Given the description of an element on the screen output the (x, y) to click on. 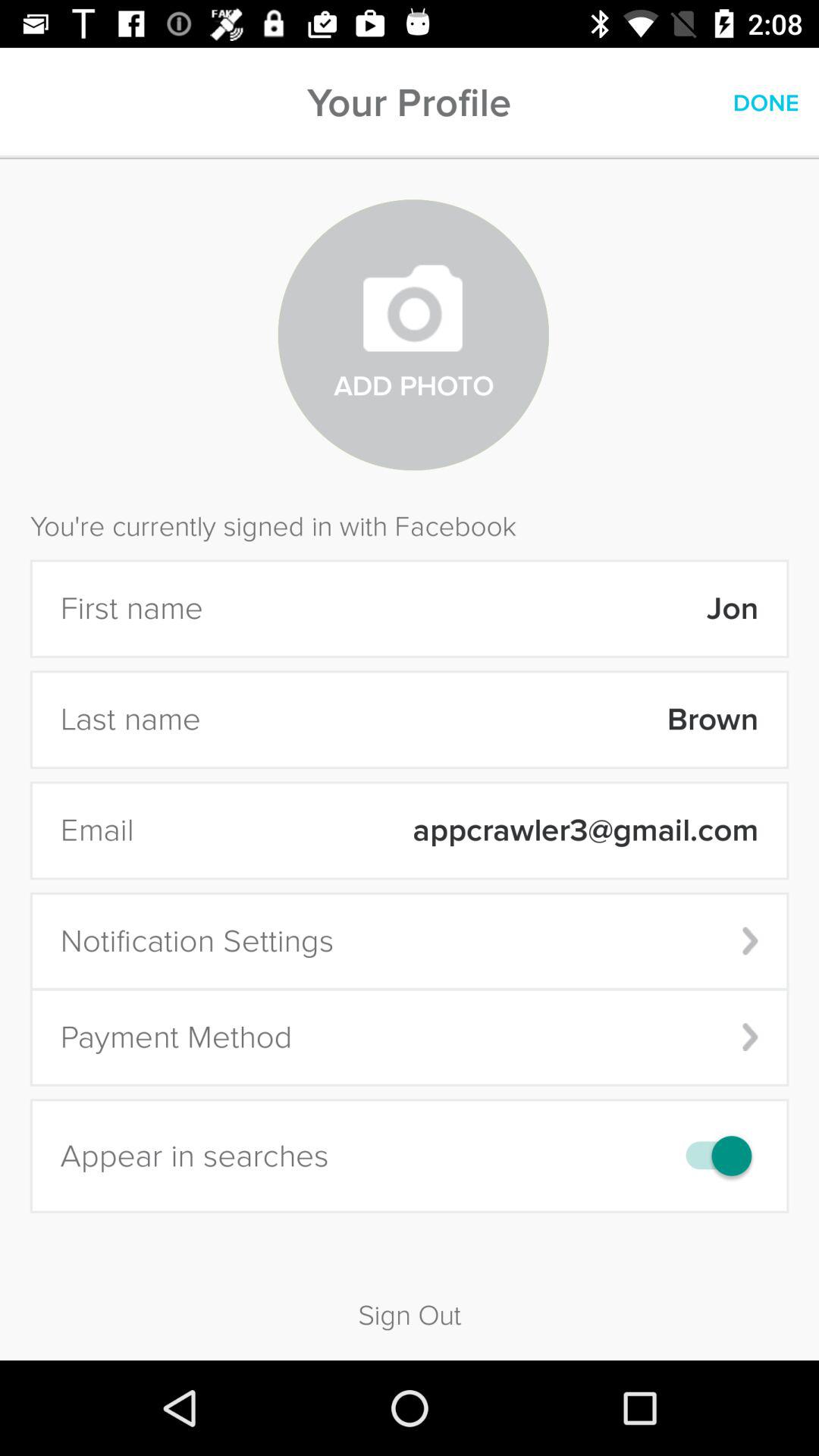
click the icon next to the your profile item (766, 103)
